Given the description of an element on the screen output the (x, y) to click on. 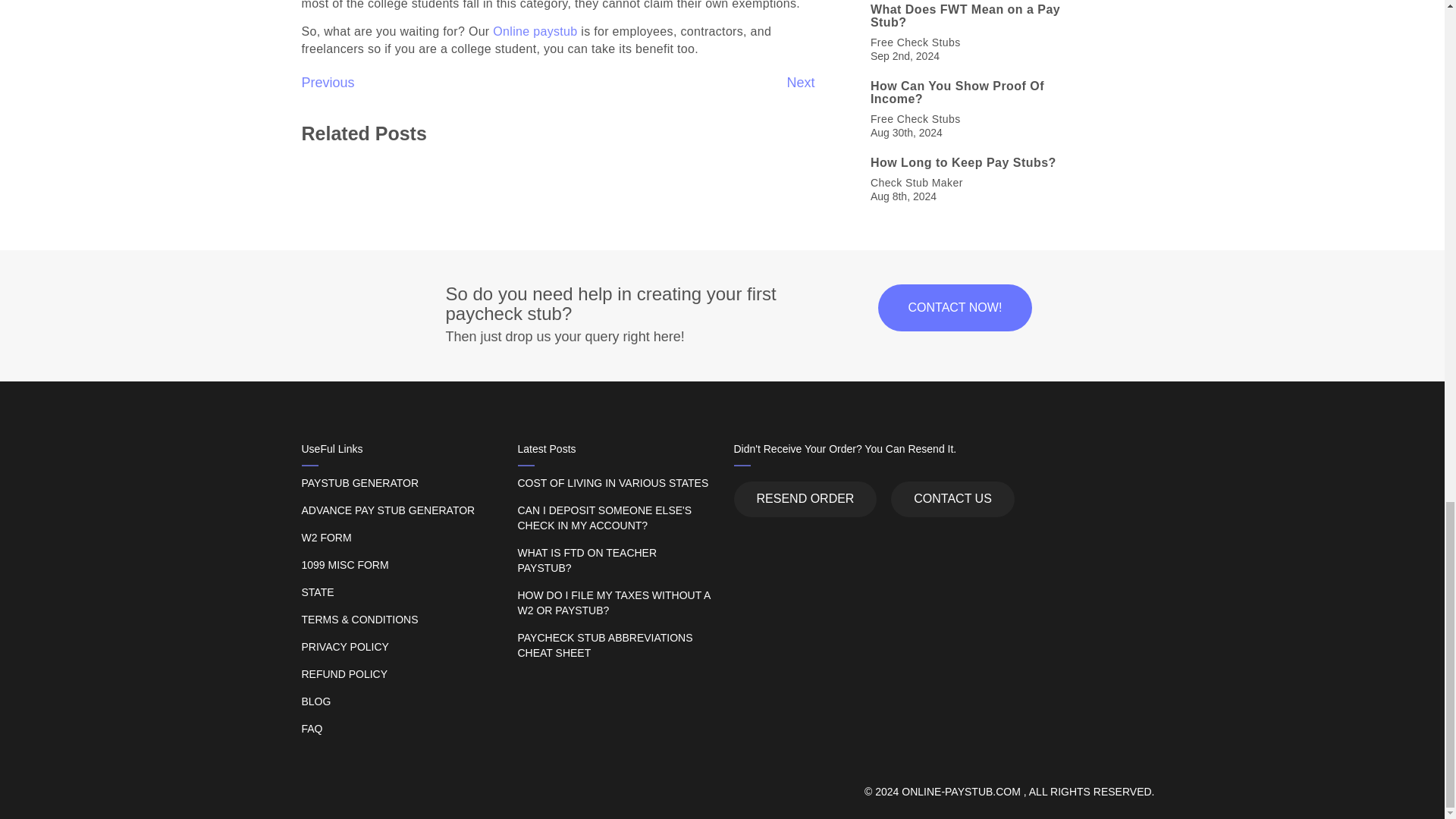
How Long to Keep Pay Stubs? (980, 162)
Look How Do I File My Taxes Without a W2 or Paystub? (613, 603)
REFUND POLICY (398, 674)
Next (801, 82)
CONTACT NOW! (954, 308)
How Can You Show Proof Of Income? (980, 92)
Twitter Icon (824, 554)
Look Cost Of Living In Various States (613, 483)
ADVANCE PAY STUB GENERATOR (398, 510)
PRIVACY POLICY (398, 646)
